Given the description of an element on the screen output the (x, y) to click on. 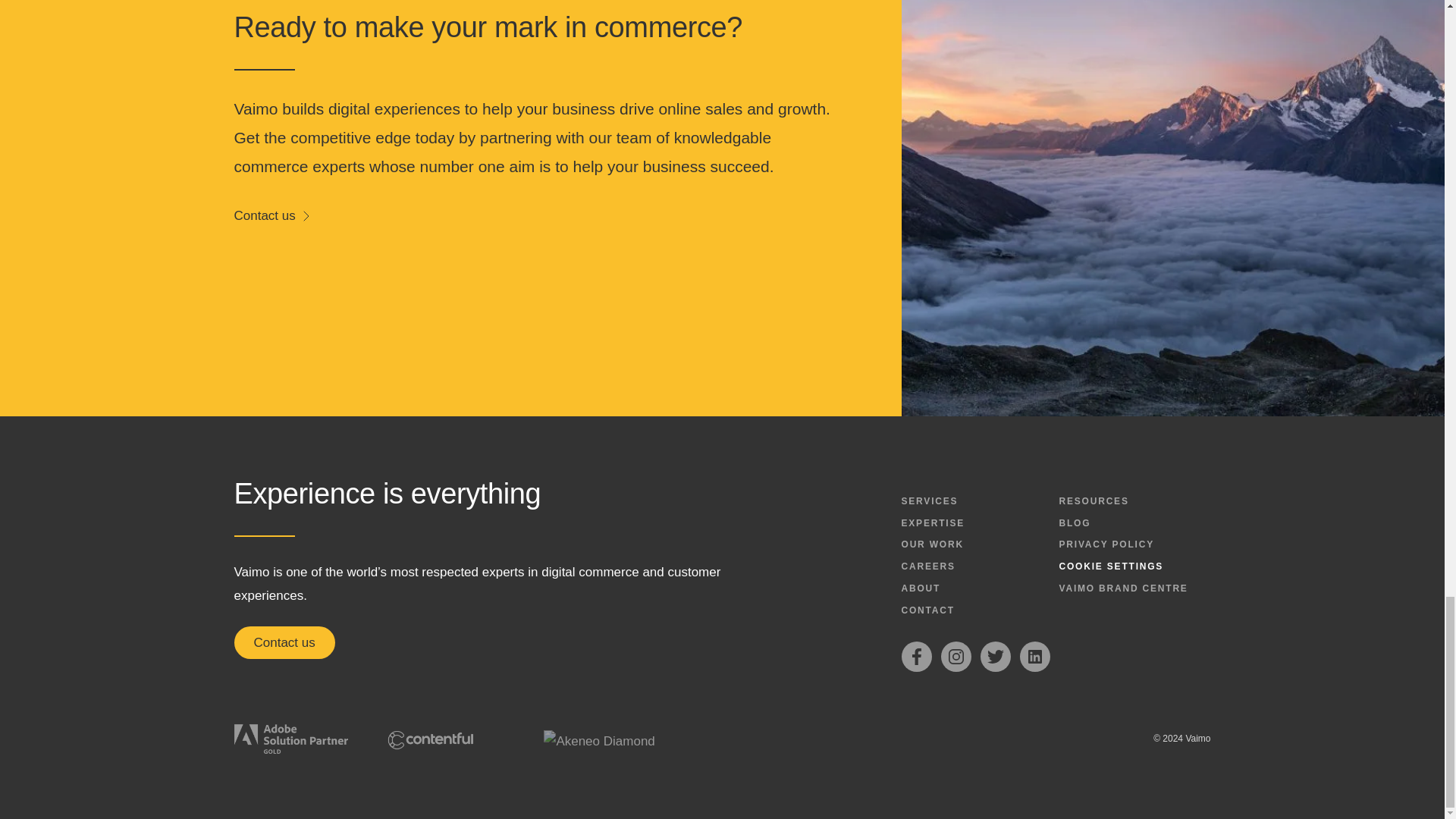
LinkedIn (1034, 656)
Facebook (916, 656)
Instagram (955, 656)
Twitter (994, 656)
